Given the description of an element on the screen output the (x, y) to click on. 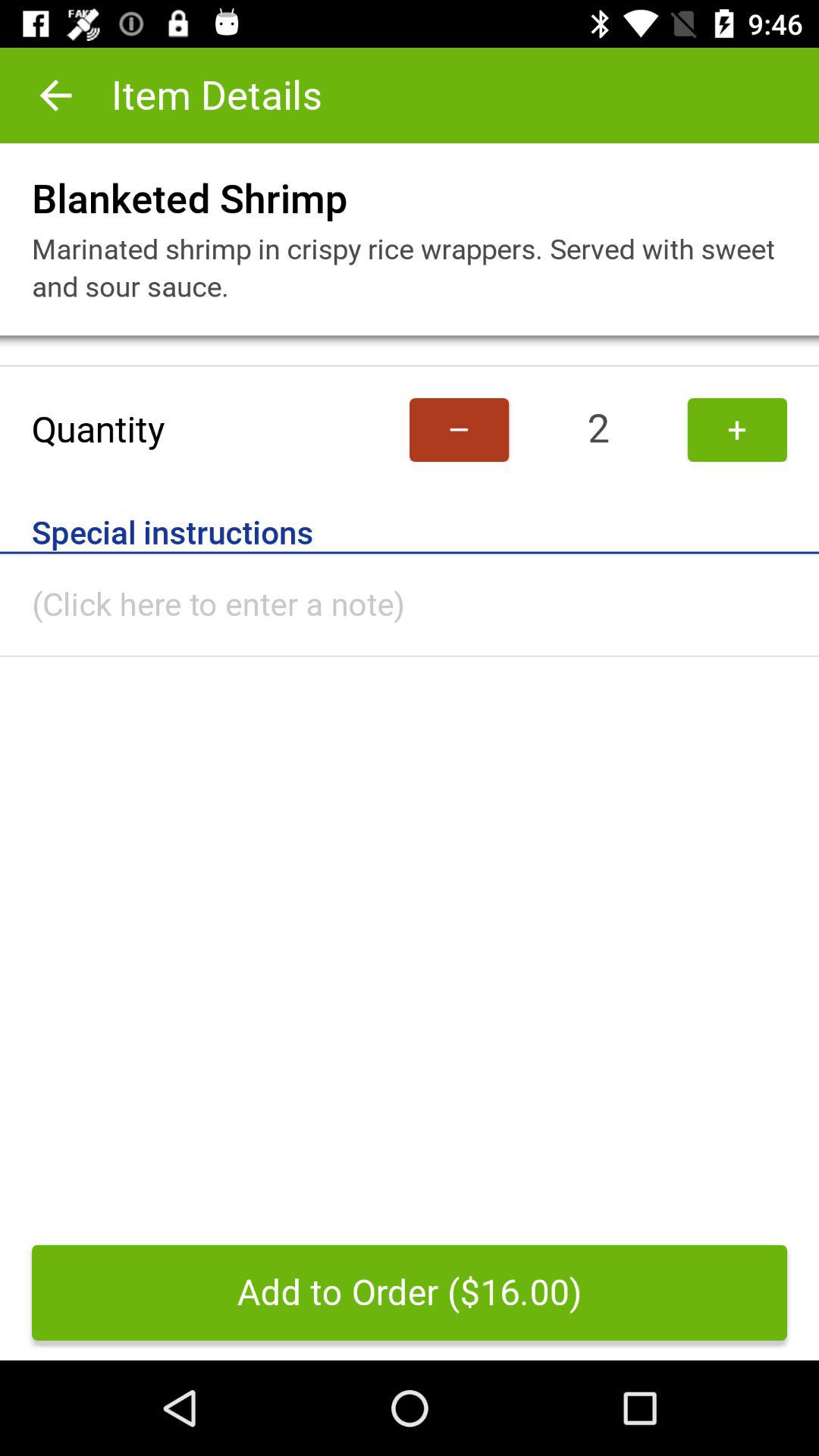
jump to + item (737, 429)
